Given the description of an element on the screen output the (x, y) to click on. 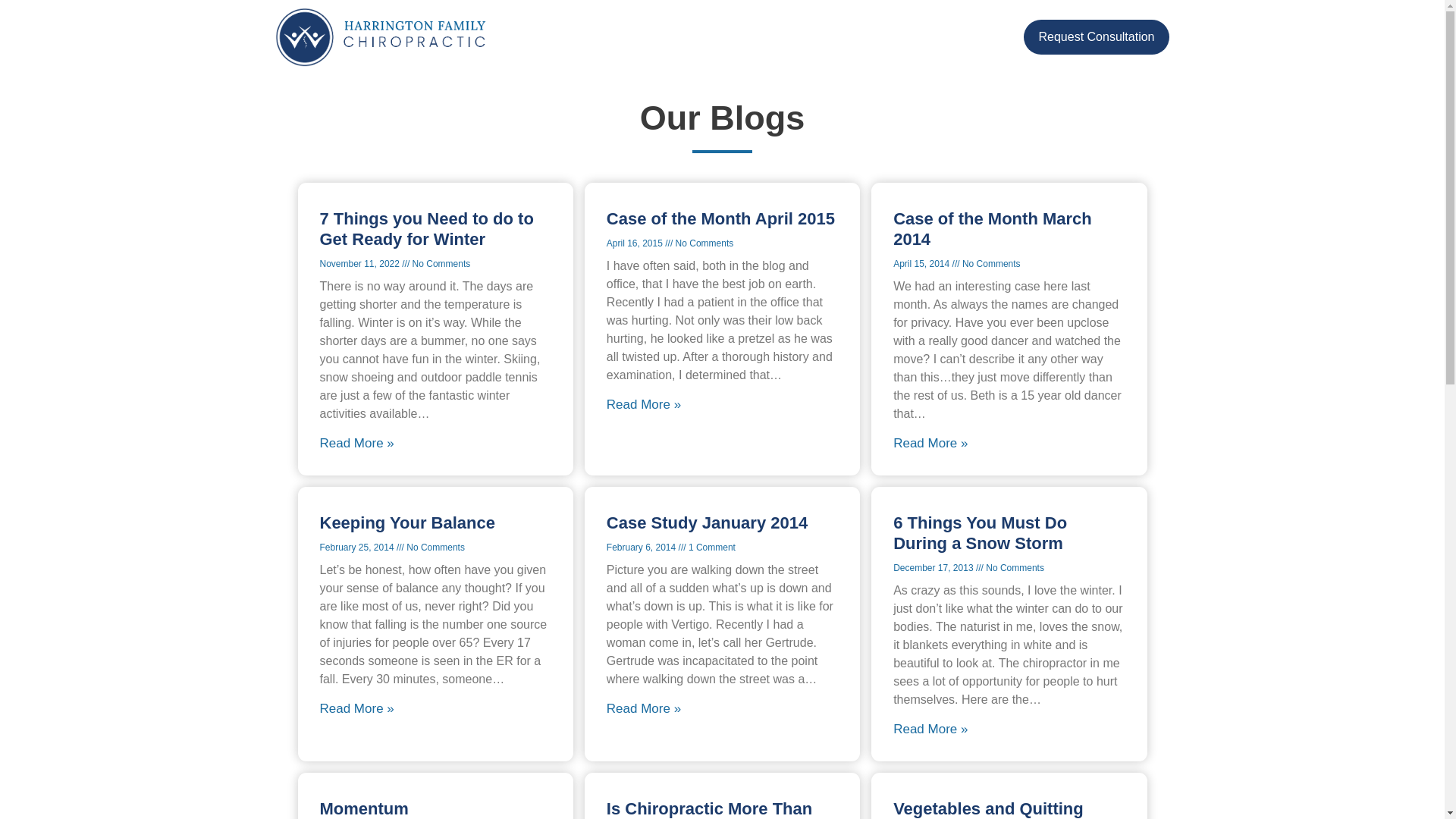
Case of the Month April 2015 (720, 218)
6 Things You Must Do During a Snow Storm (980, 532)
February 6, 2014 (642, 547)
Case of the Month March 2014 (992, 228)
Request Consultation (1096, 36)
April 16, 2015 (636, 243)
7 Things you Need to do to Get Ready for Winter (427, 228)
April 15, 2014 (922, 263)
Momentum (364, 808)
December 17, 2013 (934, 567)
Keeping Your Balance (407, 522)
Is Chiropractic More Than Just Back Pain Relief? (709, 809)
February 25, 2014 (358, 547)
Case Study January 2014 (707, 522)
Vegetables and Quitting Smoking! (988, 809)
